Given the description of an element on the screen output the (x, y) to click on. 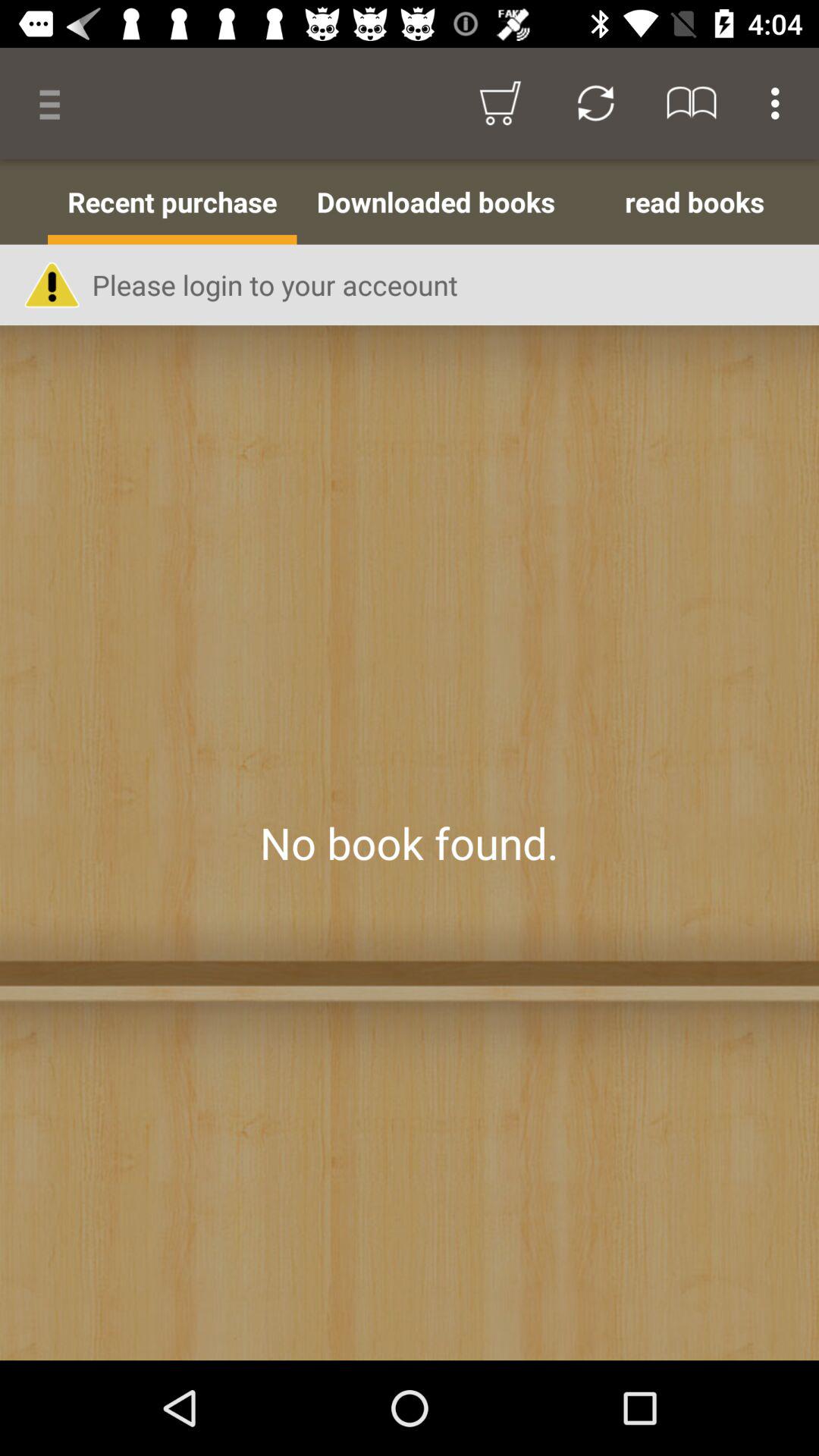
open the icon next to the all books icon (171, 201)
